Given the description of an element on the screen output the (x, y) to click on. 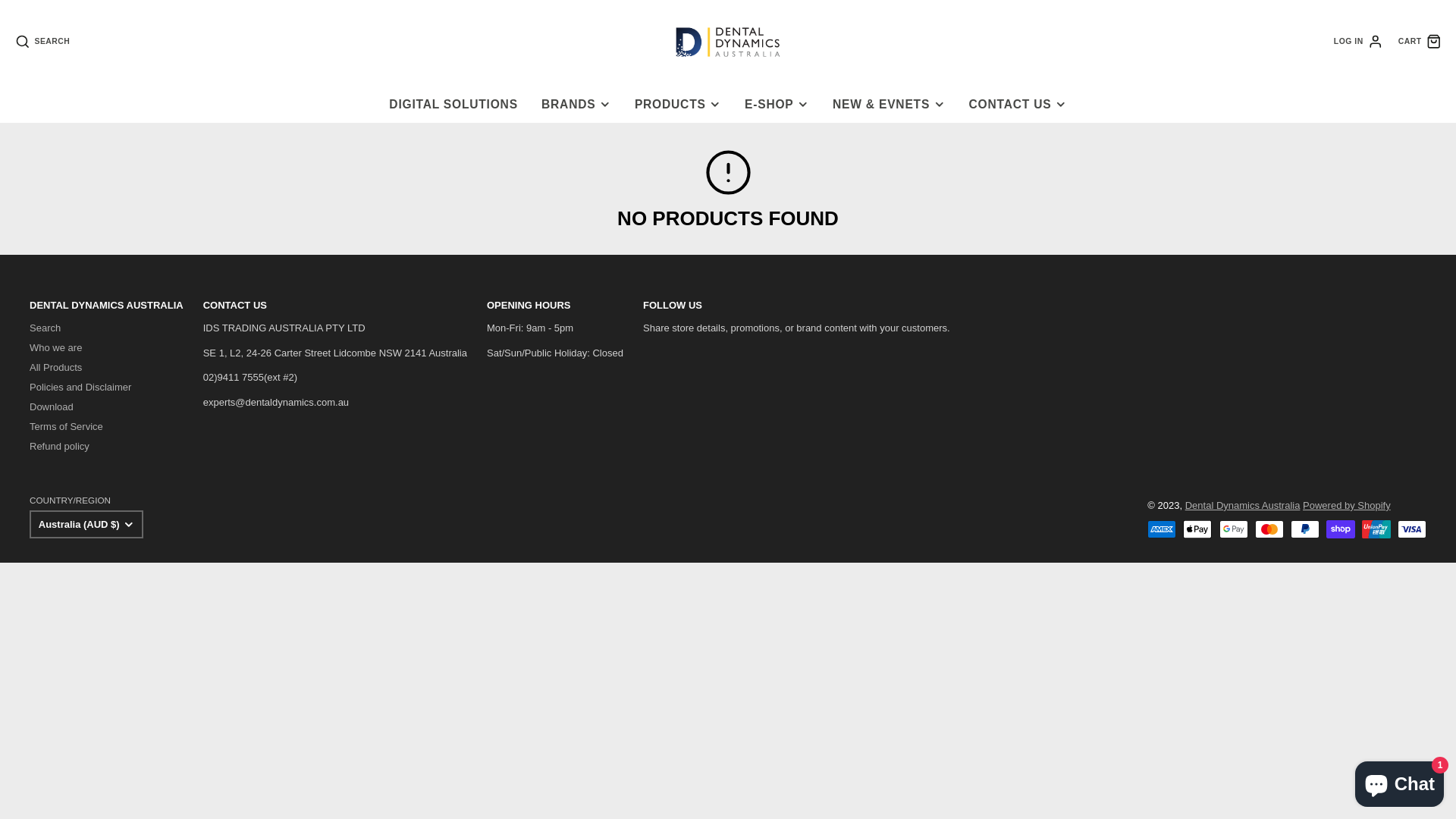
Powered by Shopify Element type: text (1346, 505)
Dental Dynamics Australia Element type: text (1242, 505)
Search Element type: text (44, 327)
LOG IN Element type: text (1358, 41)
Shopify online store chat Element type: hover (1399, 780)
BRANDS Element type: text (575, 103)
DIGITAL SOLUTIONS Element type: text (453, 103)
Who we are Element type: text (55, 347)
Refund policy Element type: text (59, 445)
PRODUCTS Element type: text (677, 103)
NEW & EVNETS Element type: text (888, 103)
CONTACT US Element type: text (1017, 103)
Australia (AUD $) Element type: text (86, 523)
CART Element type: text (1419, 41)
Download Element type: text (51, 406)
All Products Element type: text (55, 367)
Terms of Service Element type: text (66, 426)
E-SHOP Element type: text (776, 103)
SEARCH Element type: text (42, 41)
Policies and Disclaimer Element type: text (80, 386)
